Given the description of an element on the screen output the (x, y) to click on. 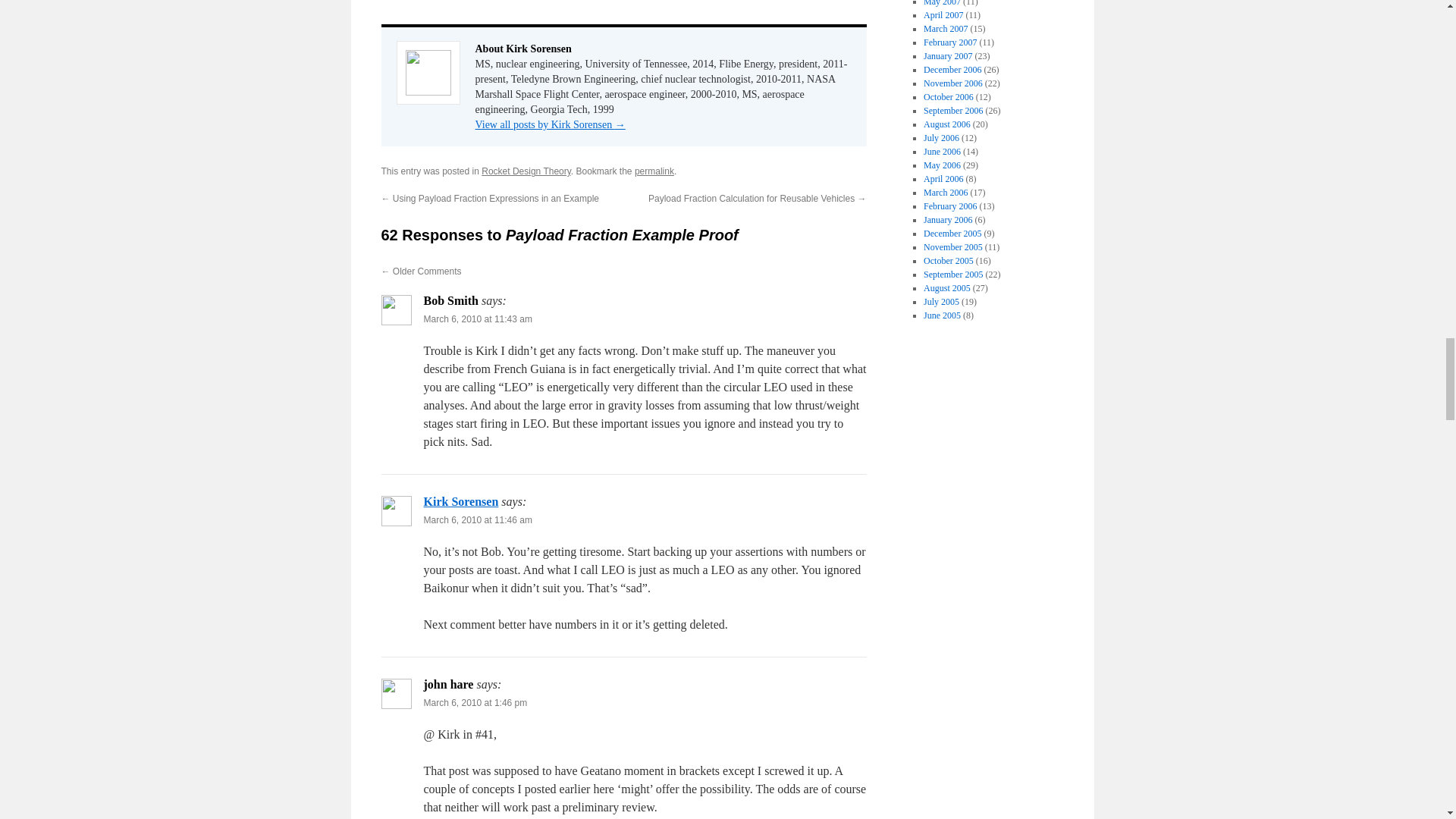
March 6, 2010 at 11:43 am (477, 318)
permalink (654, 171)
Rocket Design Theory (525, 171)
March 6, 2010 at 11:46 am (477, 520)
March 6, 2010 at 1:46 pm (475, 702)
Kirk Sorensen (460, 501)
Permalink to Payload Fraction Example Proof (654, 171)
